Given the description of an element on the screen output the (x, y) to click on. 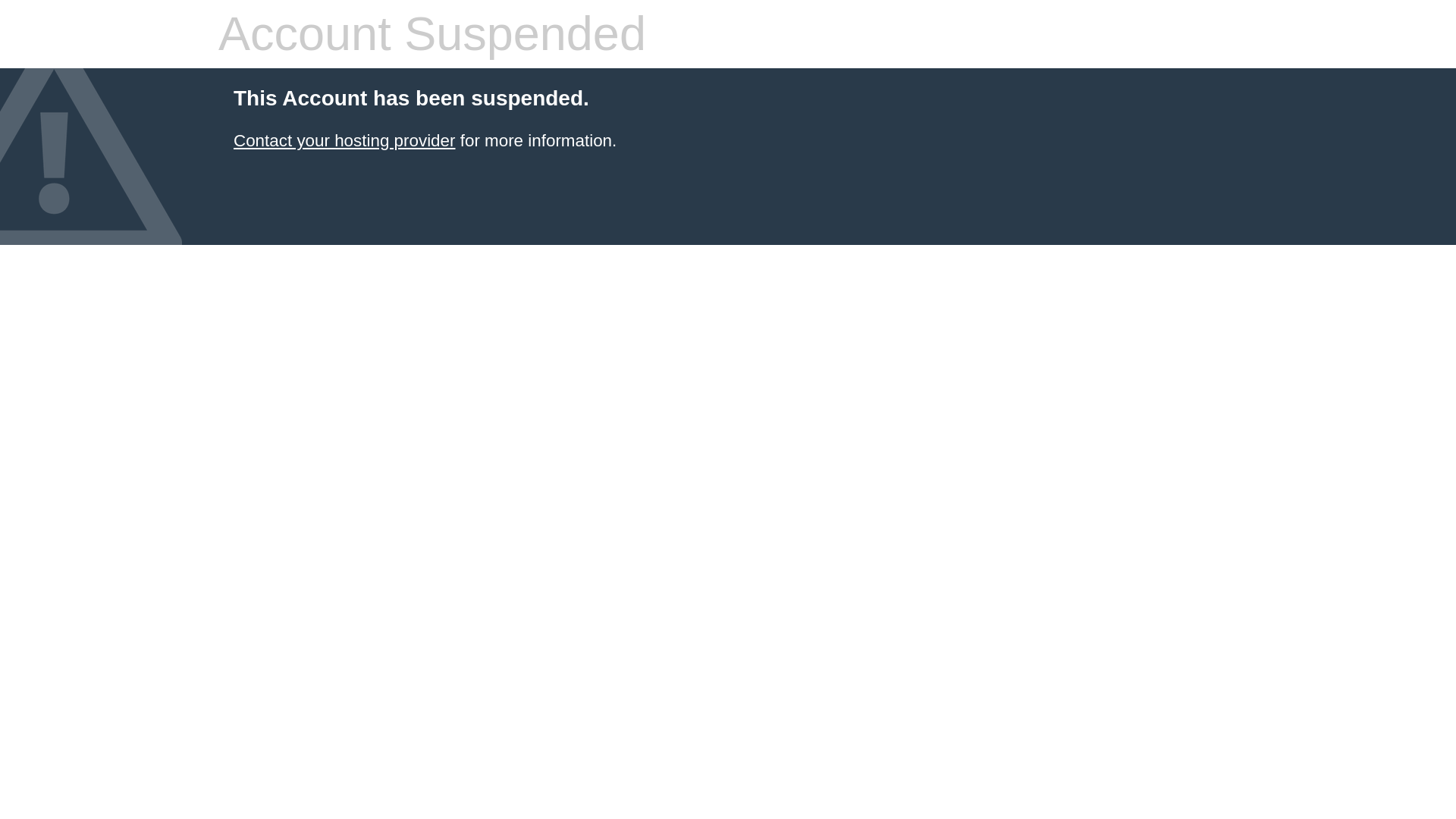
Contact your hosting provider (343, 140)
